Given the description of an element on the screen output the (x, y) to click on. 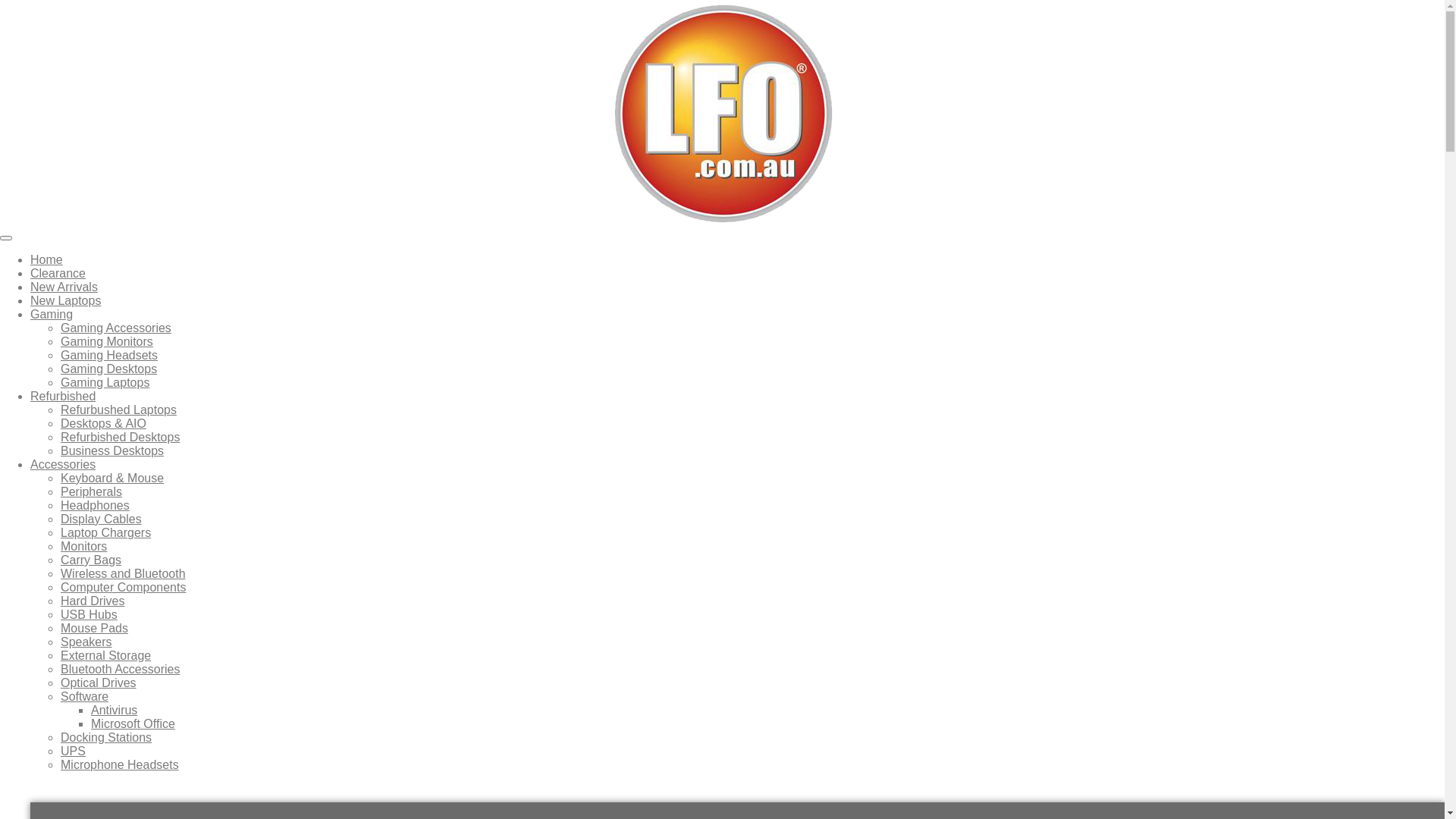
Peripherals Element type: text (91, 491)
Refurbished Element type: text (62, 395)
Home Element type: text (46, 259)
Carry Bags Element type: text (90, 559)
UPS Element type: text (72, 750)
Microsoft Office Element type: text (133, 723)
Antivirus Element type: text (114, 709)
Business Desktops Element type: text (111, 450)
Headphones Element type: text (94, 504)
Laptop Chargers Element type: text (105, 532)
Computer Components Element type: text (122, 586)
Display Cables Element type: text (100, 518)
Gaming Desktops Element type: text (108, 368)
Hard Drives Element type: text (92, 600)
Accessories Element type: text (62, 464)
Docking Stations Element type: text (105, 737)
Gaming Accessories Element type: text (115, 327)
Gaming Laptops Element type: text (104, 382)
New Arrivals Element type: text (63, 286)
Monitors Element type: text (83, 545)
Gaming Monitors Element type: text (106, 341)
Microphone Headsets Element type: text (119, 764)
Optical Drives Element type: text (98, 682)
Wireless and Bluetooth Element type: text (122, 573)
Gaming Element type: text (51, 313)
Clearance Element type: text (57, 272)
Mouse Pads Element type: text (94, 627)
Software Element type: text (84, 696)
Keyboard & Mouse Element type: text (111, 477)
External Storage Element type: text (105, 655)
Bluetooth Accessories Element type: text (119, 668)
New Laptops Element type: text (65, 300)
USB Hubs Element type: text (88, 614)
Desktops & AIO Element type: text (103, 423)
Gaming Headsets Element type: text (108, 354)
Refurbished Desktops Element type: text (119, 436)
Refurbushed Laptops Element type: text (118, 409)
Speakers Element type: text (86, 641)
